Given the description of an element on the screen output the (x, y) to click on. 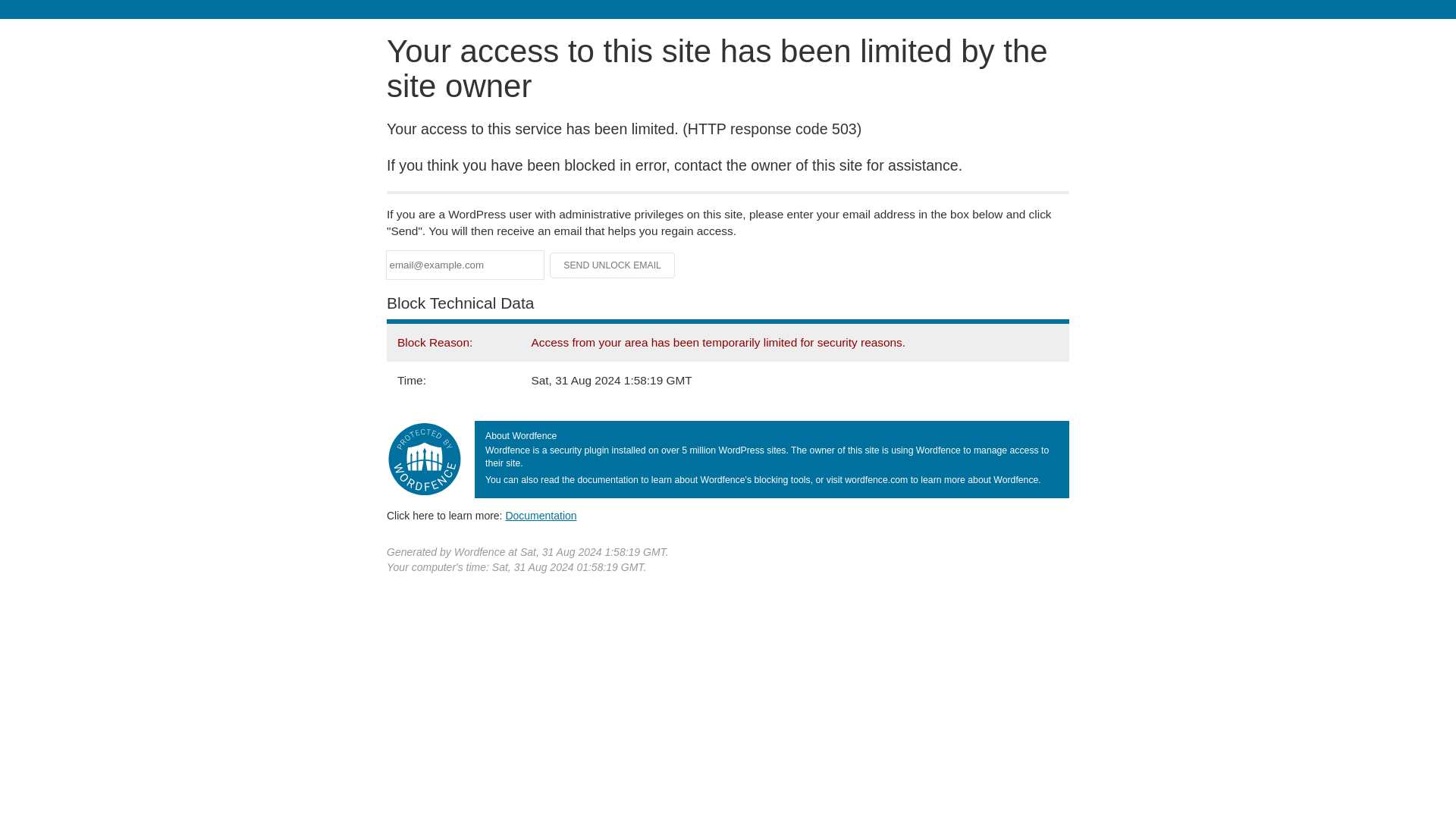
Documentation (540, 515)
Send Unlock Email (612, 265)
Send Unlock Email (612, 265)
